Given the description of an element on the screen output the (x, y) to click on. 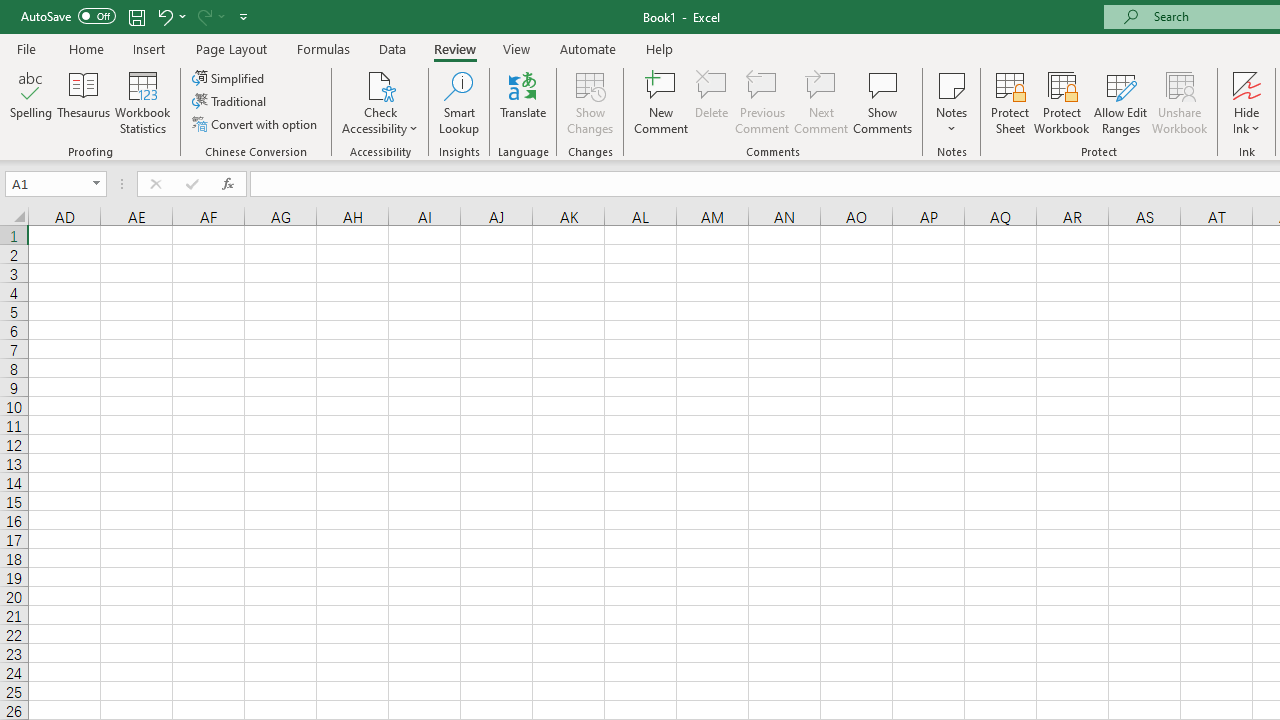
Show Changes (589, 102)
Protect Sheet... (1010, 102)
Show Comments (883, 102)
Delete (712, 102)
Translate (523, 102)
Unshare Workbook (1179, 102)
